Given the description of an element on the screen output the (x, y) to click on. 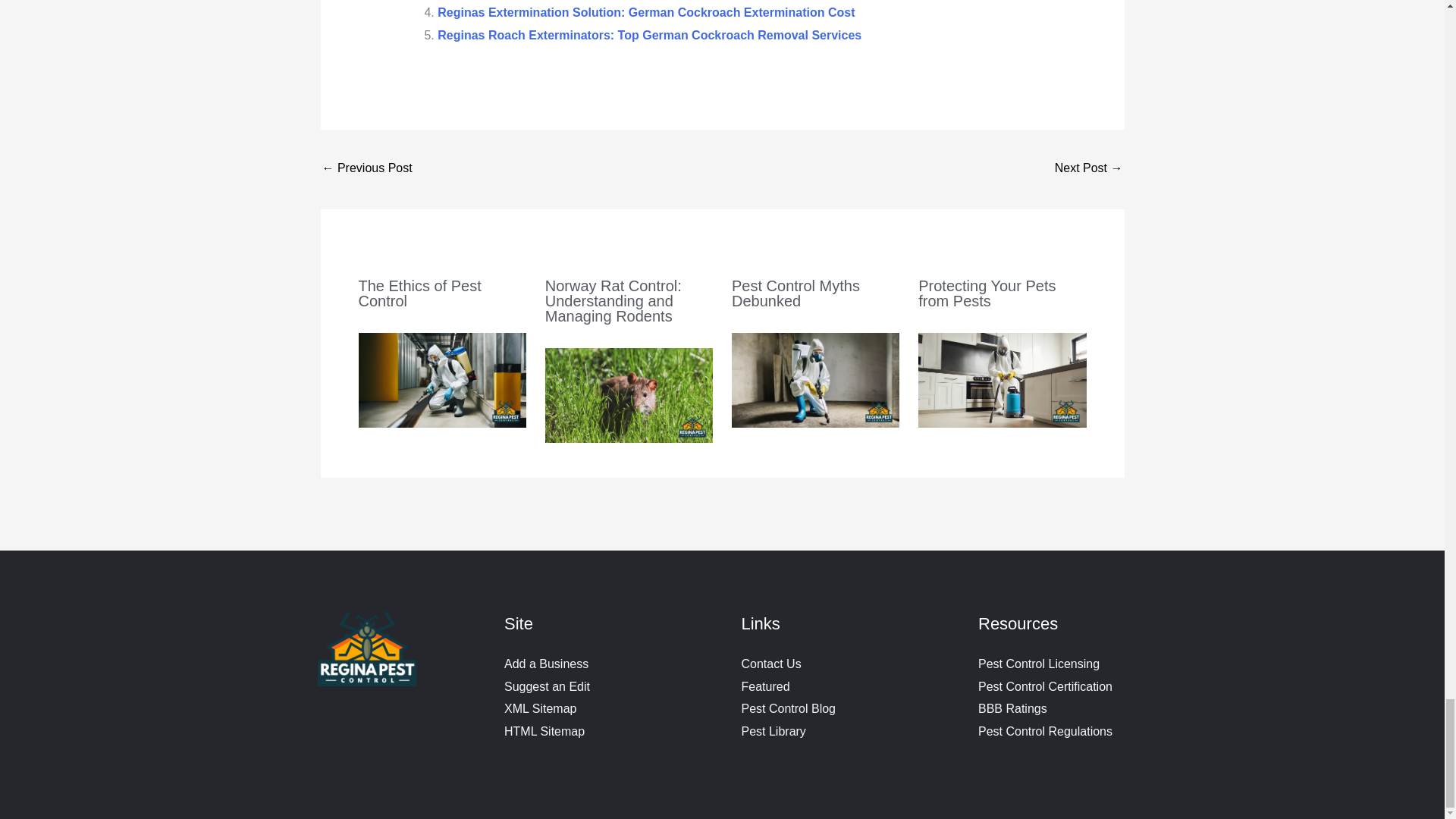
Featured Companies (765, 686)
Our Blog (788, 707)
The Ethics of Pest Control (419, 293)
Pest Control Myths Debunked (796, 293)
Norway Rat Control: Understanding and Managing Rodents (612, 300)
Protecting Your Pets from Pests (986, 293)
Carpenter Ant Removal: Techniques for Homeowners (366, 169)
Silverfish Infestation: Identification and Control (1088, 169)
